Given the description of an element on the screen output the (x, y) to click on. 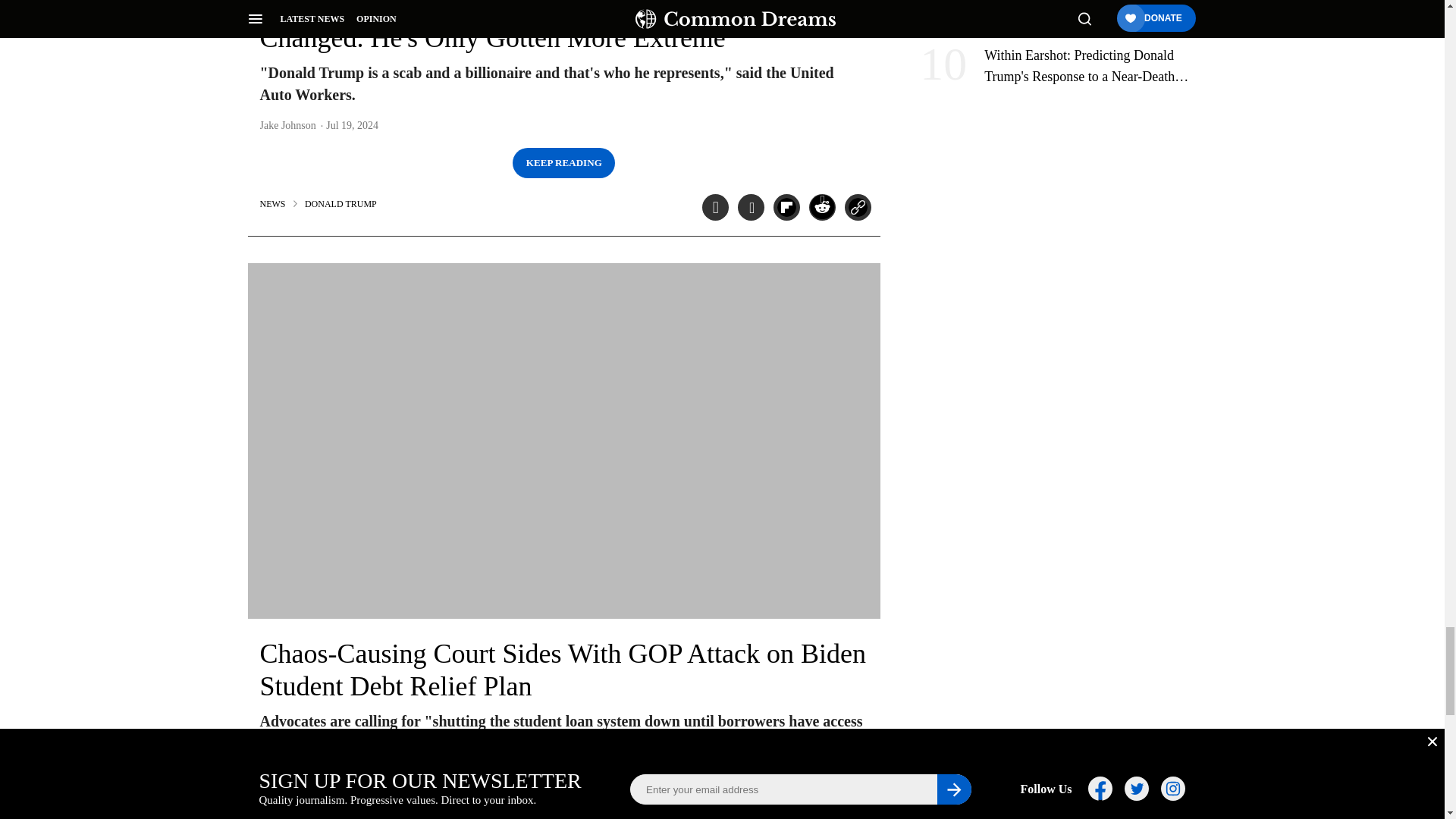
Copy this link to clipboard (857, 207)
